Given the description of an element on the screen output the (x, y) to click on. 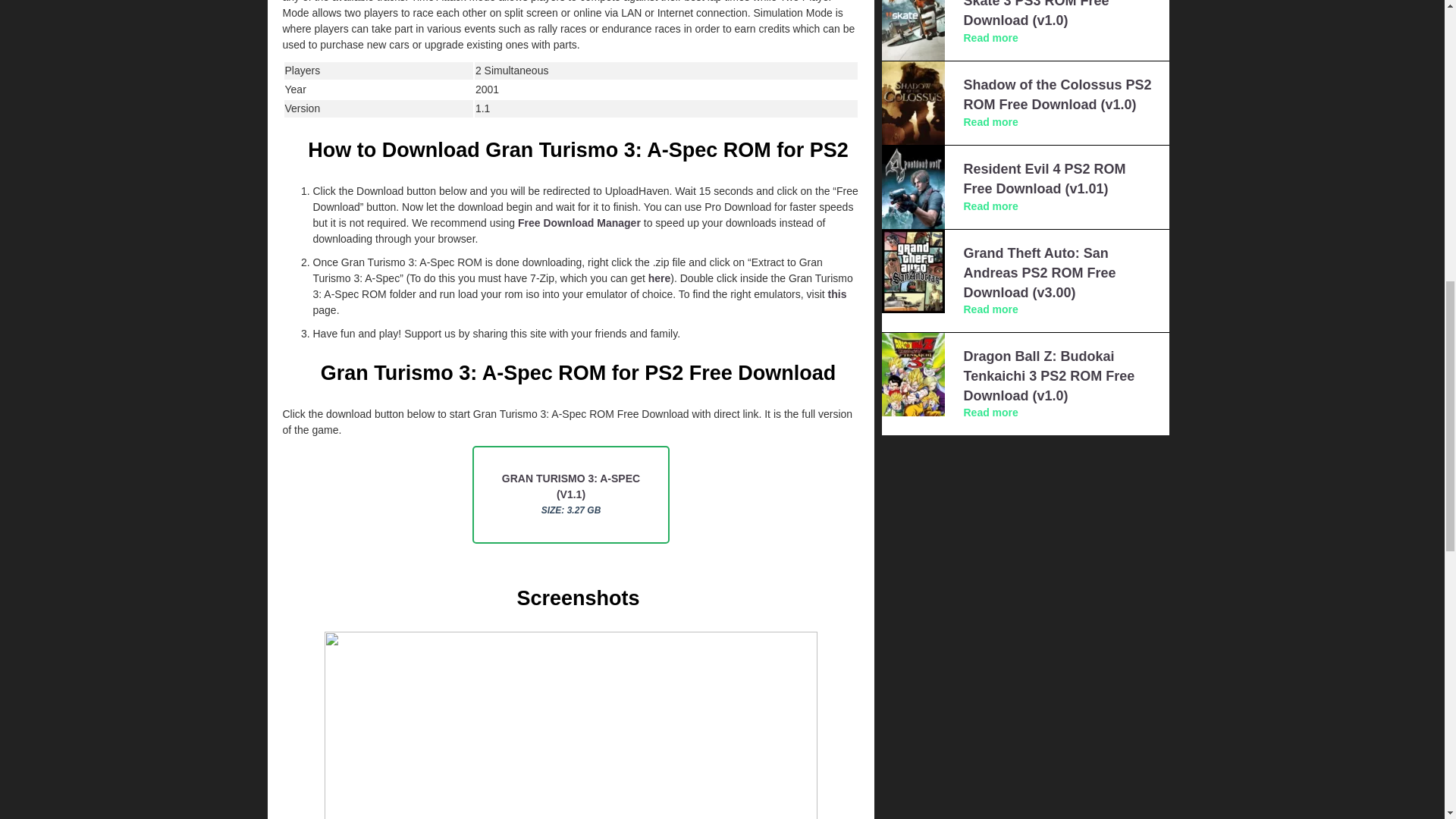
here (659, 277)
Read more (989, 121)
Read more (989, 205)
Free Download Manager (579, 223)
Read more (989, 37)
this (837, 294)
Read more (989, 309)
